Given the description of an element on the screen output the (x, y) to click on. 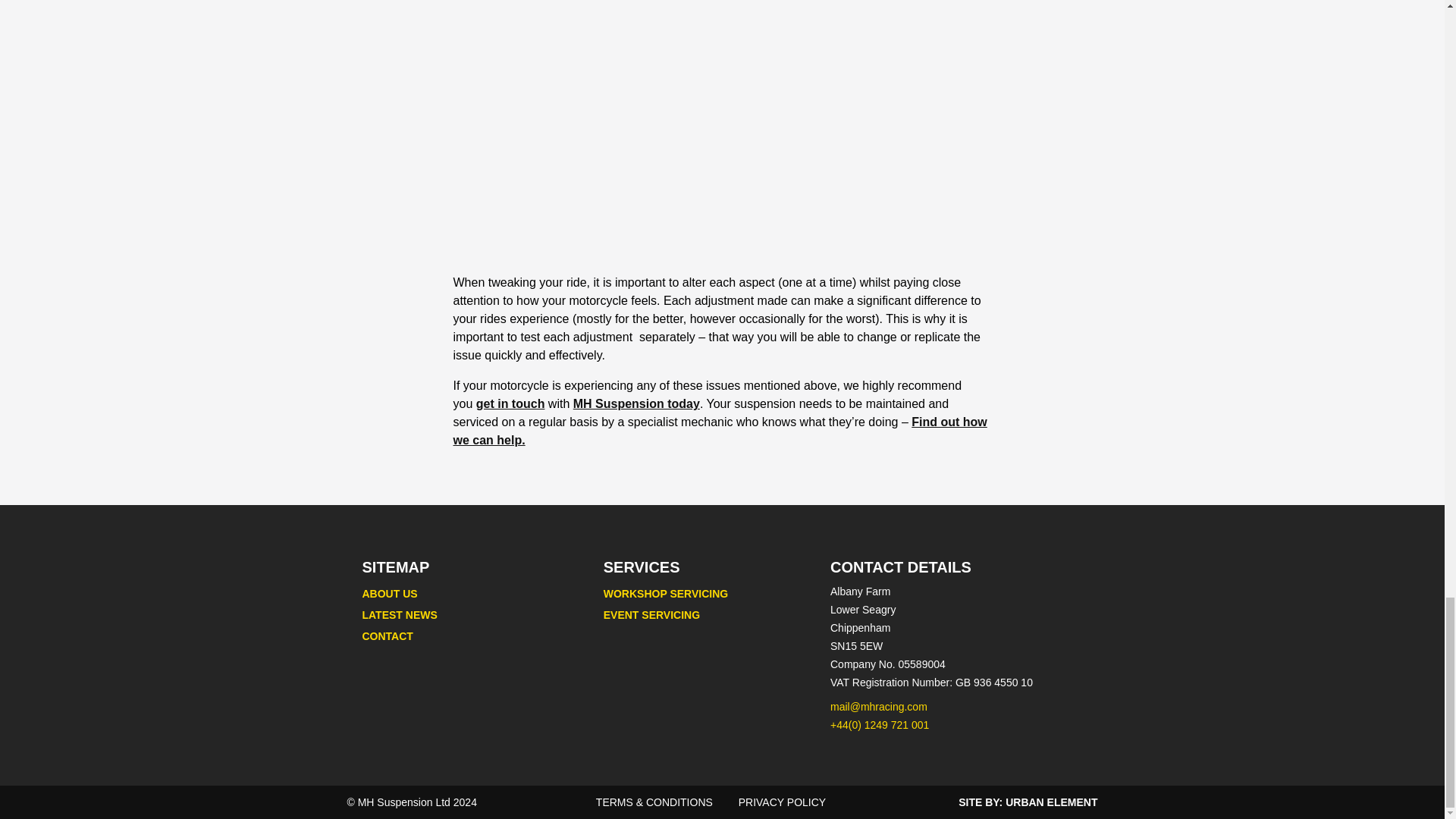
Find out how we can help. (719, 430)
LATEST NEWS (400, 614)
EVENT SERVICING (652, 614)
CONTACT (387, 635)
ABOUT US (389, 593)
get in touch (510, 403)
WORKSHOP SERVICING (666, 593)
SITE BY: URBAN ELEMENT (1027, 802)
MH Suspension today (636, 403)
PRIVACY POLICY (781, 802)
